Given the description of an element on the screen output the (x, y) to click on. 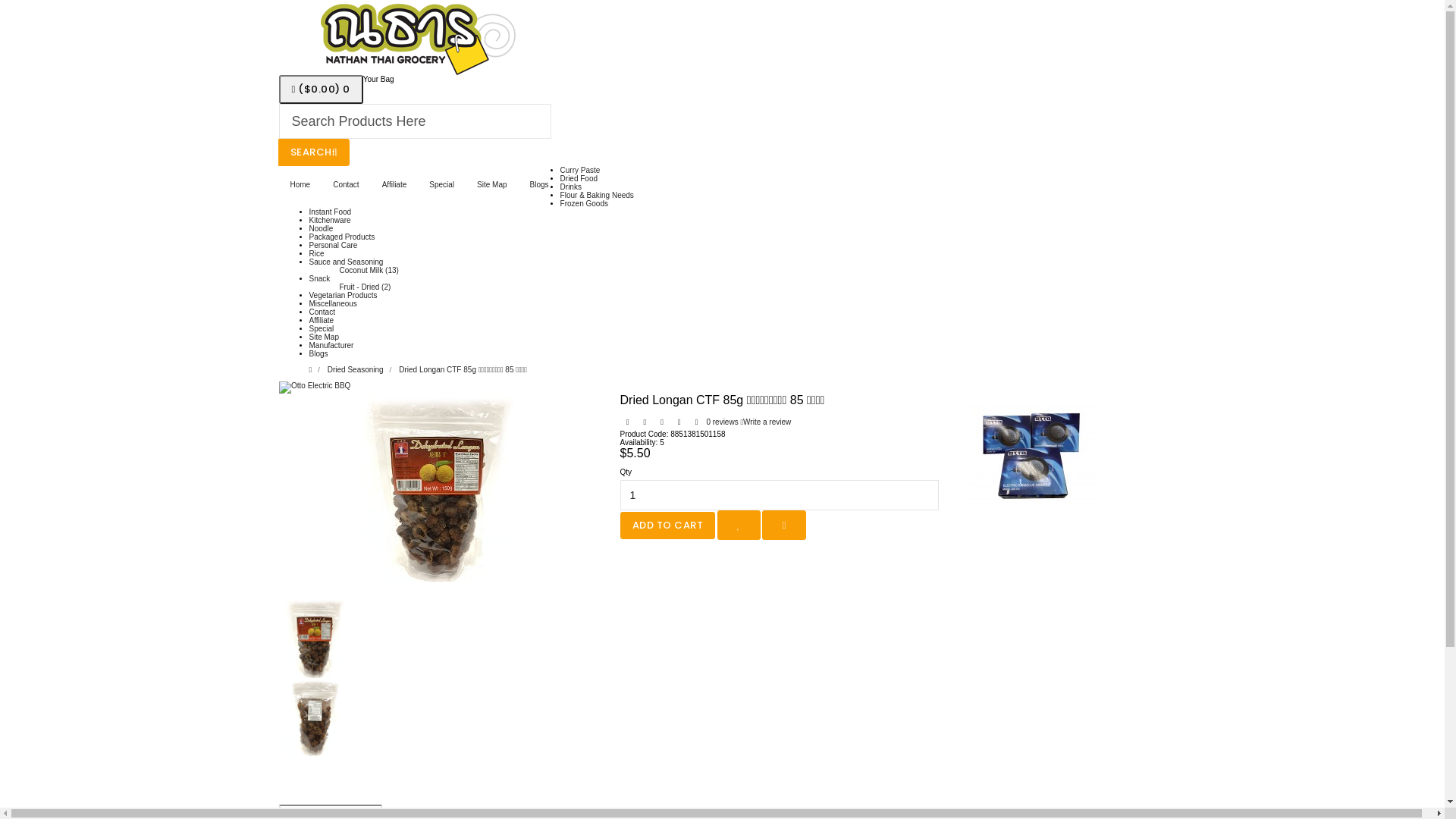
Blogs Element type: text (318, 353)
Noodle Element type: text (321, 228)
Affiliate Element type: text (394, 184)
Special Element type: text (321, 328)
Special Element type: text (441, 184)
Contact Element type: text (345, 184)
Add to Compare Element type: hover (783, 524)
Frozen Goods Element type: text (584, 203)
Flour & Baking Needs Element type: text (596, 195)
Packaged Products Element type: text (342, 236)
SEARCH Element type: text (313, 152)
Miscellaneous Element type: text (333, 303)
Blogs Element type: text (539, 184)
Kitchenware Element type: text (330, 220)
Add to Wish List Element type: hover (738, 524)
ADD TO CART Element type: text (667, 524)
Nathan Thai Grocery Element type: hover (411, 37)
Home Element type: text (300, 184)
Manufacturer Element type: text (331, 345)
Sauce and Seasoning Element type: text (346, 261)
($0.00) 0 Element type: text (321, 89)
Drinks Element type: text (570, 186)
0 reviews Element type: text (721, 421)
Site Map Element type: text (323, 336)
Dried Seasoning Element type: text (355, 369)
Write a review Element type: text (765, 421)
Vegetarian Products Element type: text (343, 295)
Fruit - Dried (2) Element type: text (365, 286)
Instant Food Element type: text (330, 211)
Rice Element type: text (316, 253)
Site Map Element type: text (491, 184)
Affiliate Element type: text (321, 320)
Dried Food Element type: text (578, 178)
Curry Paste Element type: text (580, 170)
Personal Care Element type: text (333, 245)
Coconut Milk (13) Element type: text (368, 270)
Snack Element type: text (319, 278)
Contact Element type: text (322, 311)
